Given the description of an element on the screen output the (x, y) to click on. 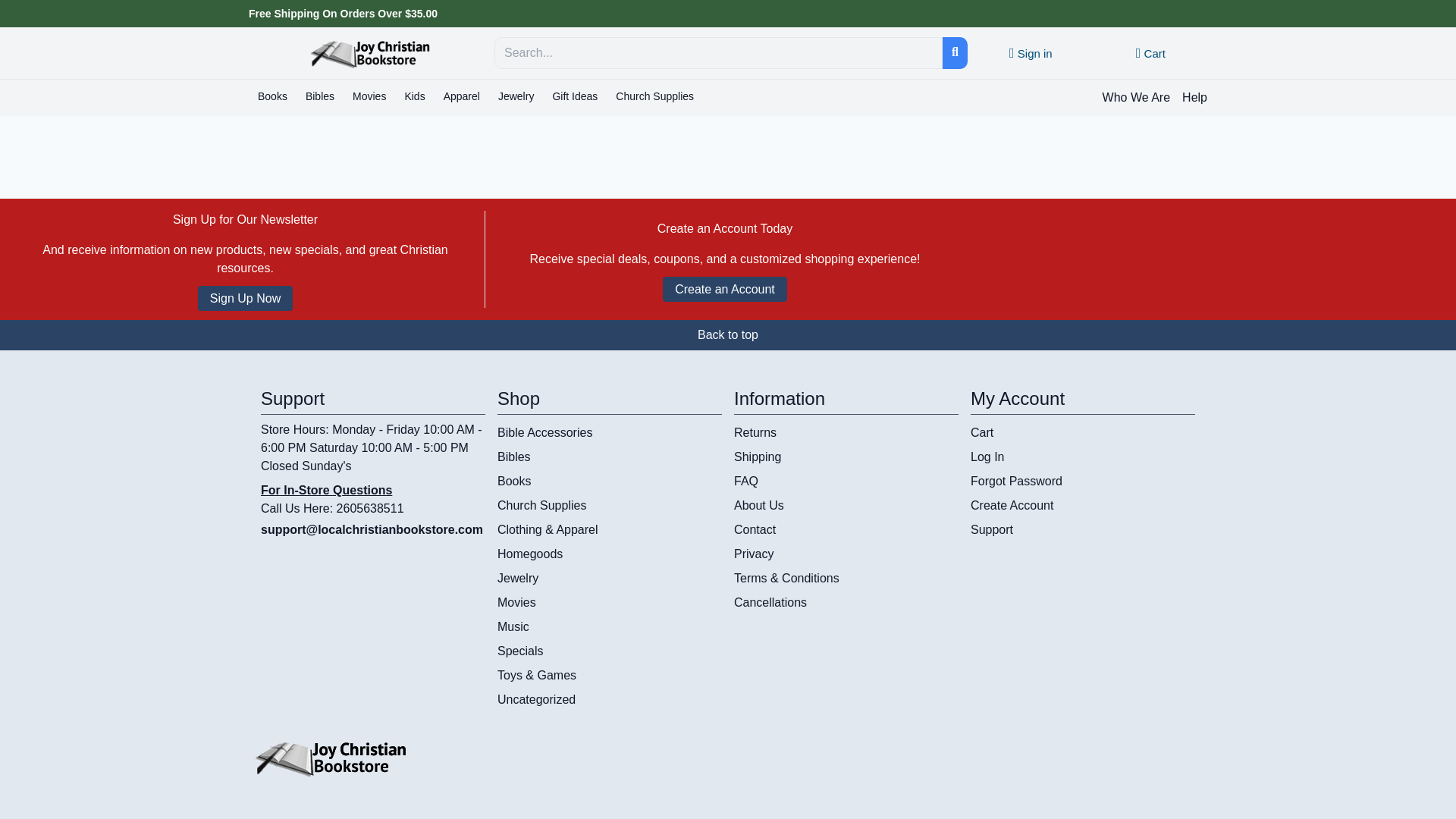
Sign in (1030, 52)
Books (272, 97)
